Given the description of an element on the screen output the (x, y) to click on. 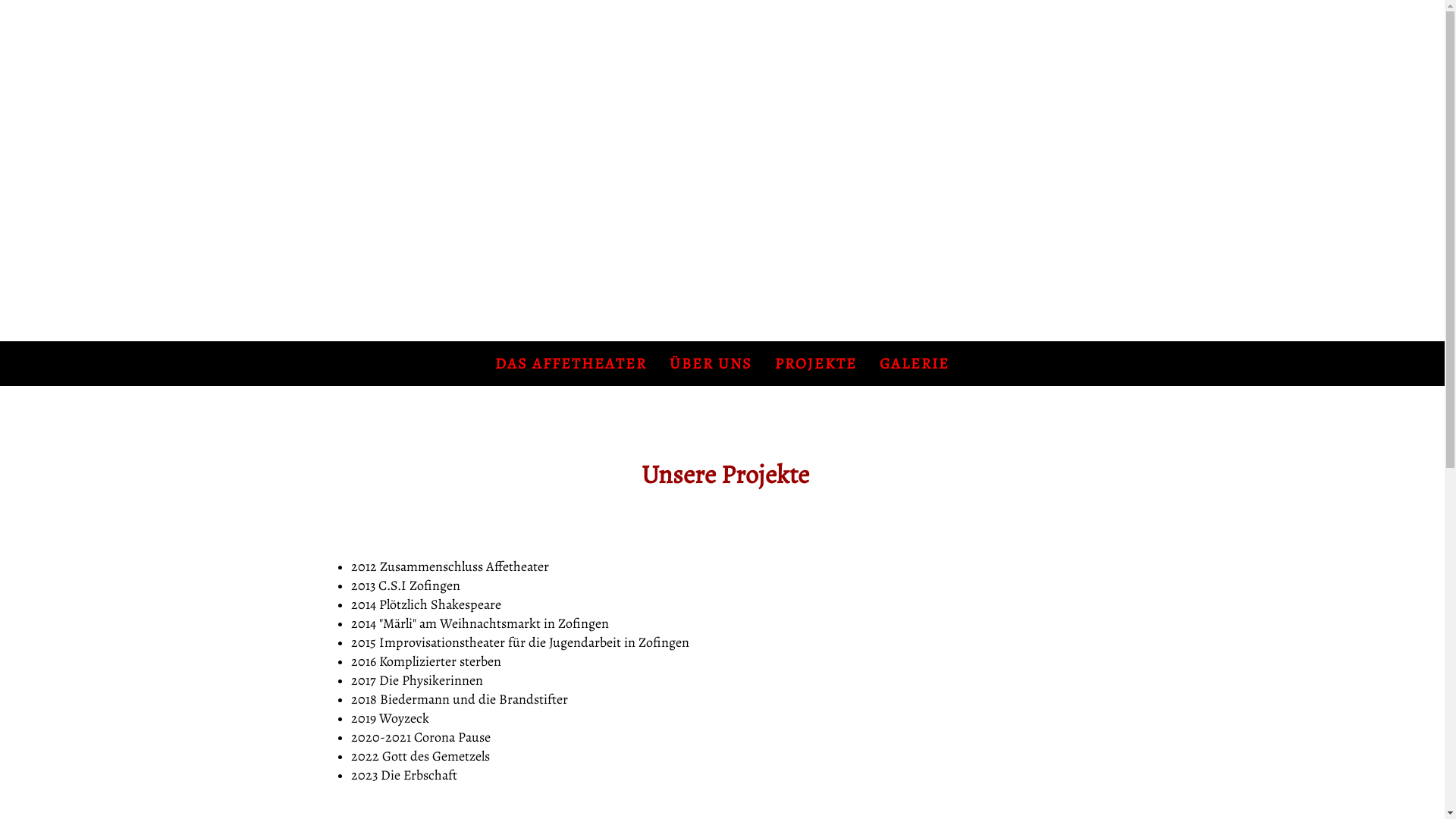
PROJEKTE Element type: text (815, 363)
GALERIE Element type: text (914, 363)
DAS AFFETHEATER Element type: text (570, 363)
